Given the description of an element on the screen output the (x, y) to click on. 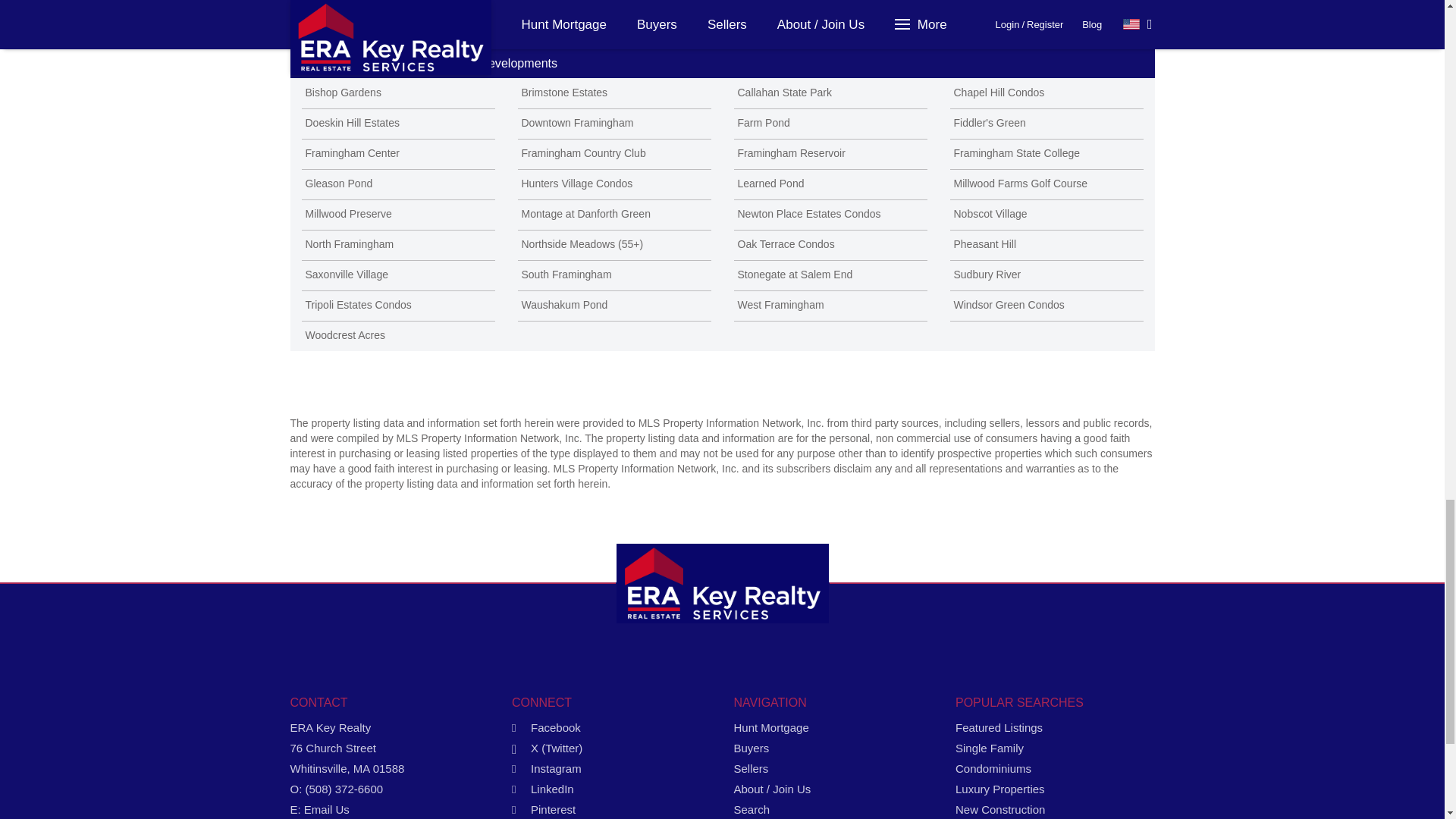
View Bishop Gardens (398, 92)
